Given the description of an element on the screen output the (x, y) to click on. 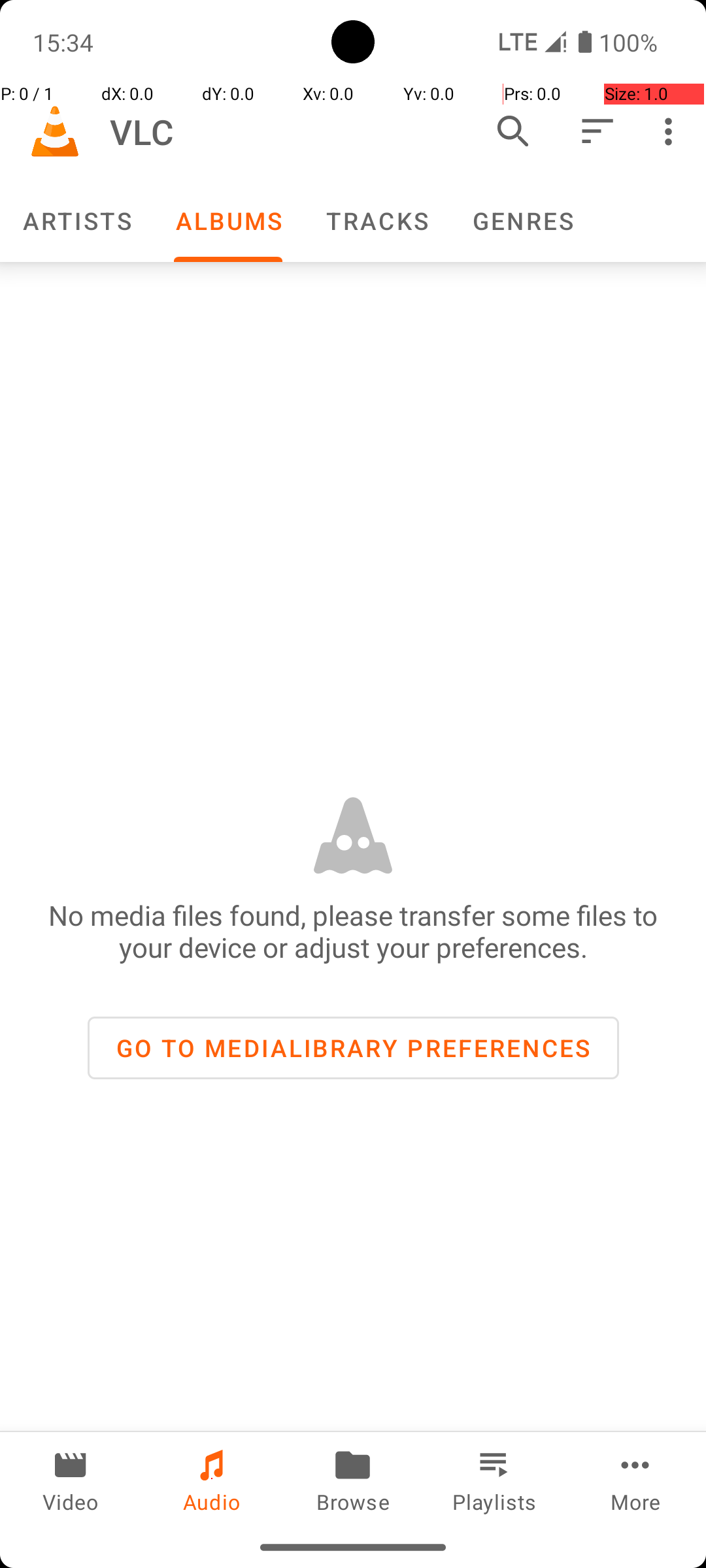
GO TO MEDIALIBRARY PREFERENCES Element type: android.widget.Button (353, 1047)
